Given the description of an element on the screen output the (x, y) to click on. 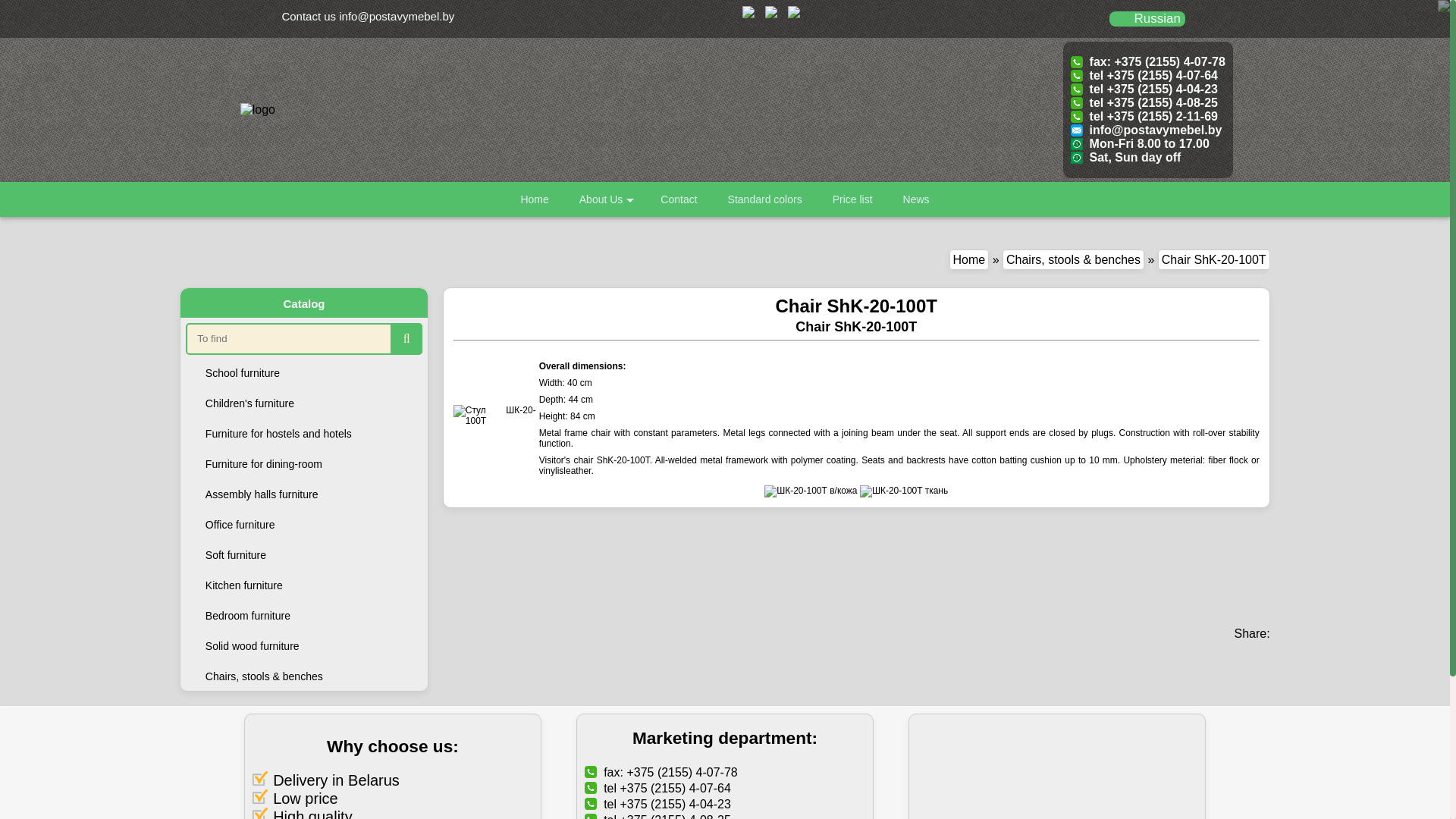
Price list Element type: text (852, 199)
Office furniture Element type: text (303, 519)
Group Odnoklassniki Element type: hover (771, 13)
tel +375 (2155) 4-04-23 Element type: text (1143, 88)
Furniture for hostels and hotels Element type: text (303, 428)
fax: +375 (2155) 4-07-78 Element type: text (1147, 61)
Assembly halls furniture Element type: text (303, 489)
tel +375 (2155) 4-07-64 Element type: text (1143, 75)
Catalog Element type: text (303, 303)
tel +375 (2155) 4-08-25 Element type: text (1143, 102)
Furniture for dining-room Element type: text (303, 459)
tel +375 (2155) 2-11-69 Element type: text (1143, 115)
Kitchen furniture Element type: text (303, 580)
News Element type: text (916, 199)
School furniture Element type: text (303, 368)
Bedroom furniture Element type: text (303, 610)
Instagram Element type: hover (793, 13)
Chairs, stools & benches    Element type: text (303, 671)
Children's furniture Element type: text (303, 398)
Home Element type: text (534, 199)
info@postavymebel.by Element type: text (1146, 129)
Solid wood furniture Element type: text (303, 641)
VK group Element type: hover (748, 13)
Russian Element type: text (1156, 18)
Standard colors Element type: text (764, 199)
tel +375 (2155) 4-04-23 Element type: text (657, 803)
Chairs, stools & benches Element type: text (1073, 259)
tel +375 (2155) 4-07-64 Element type: text (657, 787)
Home Element type: text (969, 259)
Search Element type: hover (406, 338)
Contact Element type: text (678, 199)
Soft furniture Element type: text (303, 550)
fax: +375 (2155) 4-07-78 Element type: text (660, 771)
About Us Element type: text (605, 199)
Search Element type: text (406, 338)
